Given the description of an element on the screen output the (x, y) to click on. 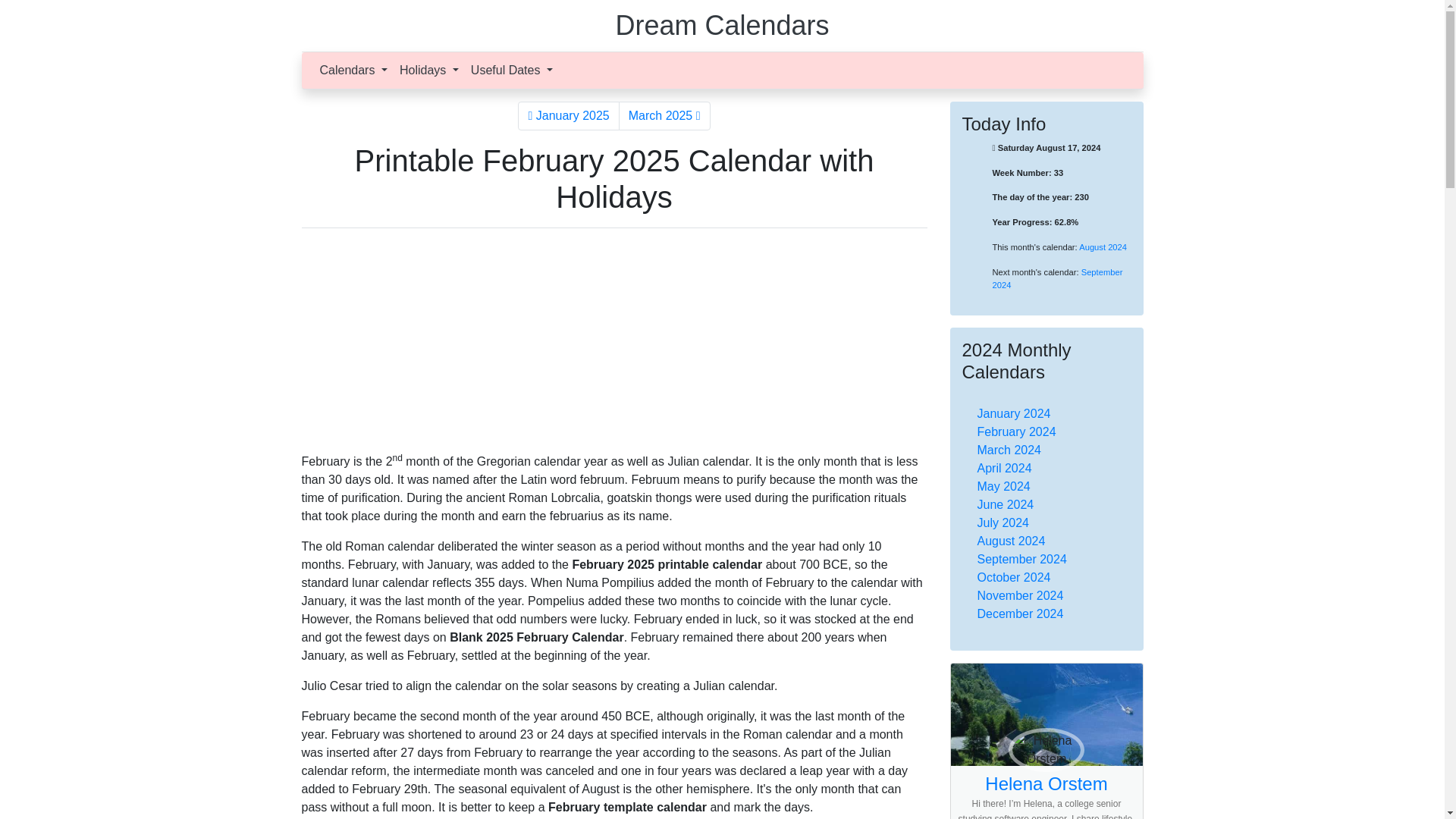
Printable Calendar (721, 24)
Calendars (353, 70)
Dream Calendars (721, 24)
Useful Dates (511, 70)
Holidays (428, 70)
